Given the description of an element on the screen output the (x, y) to click on. 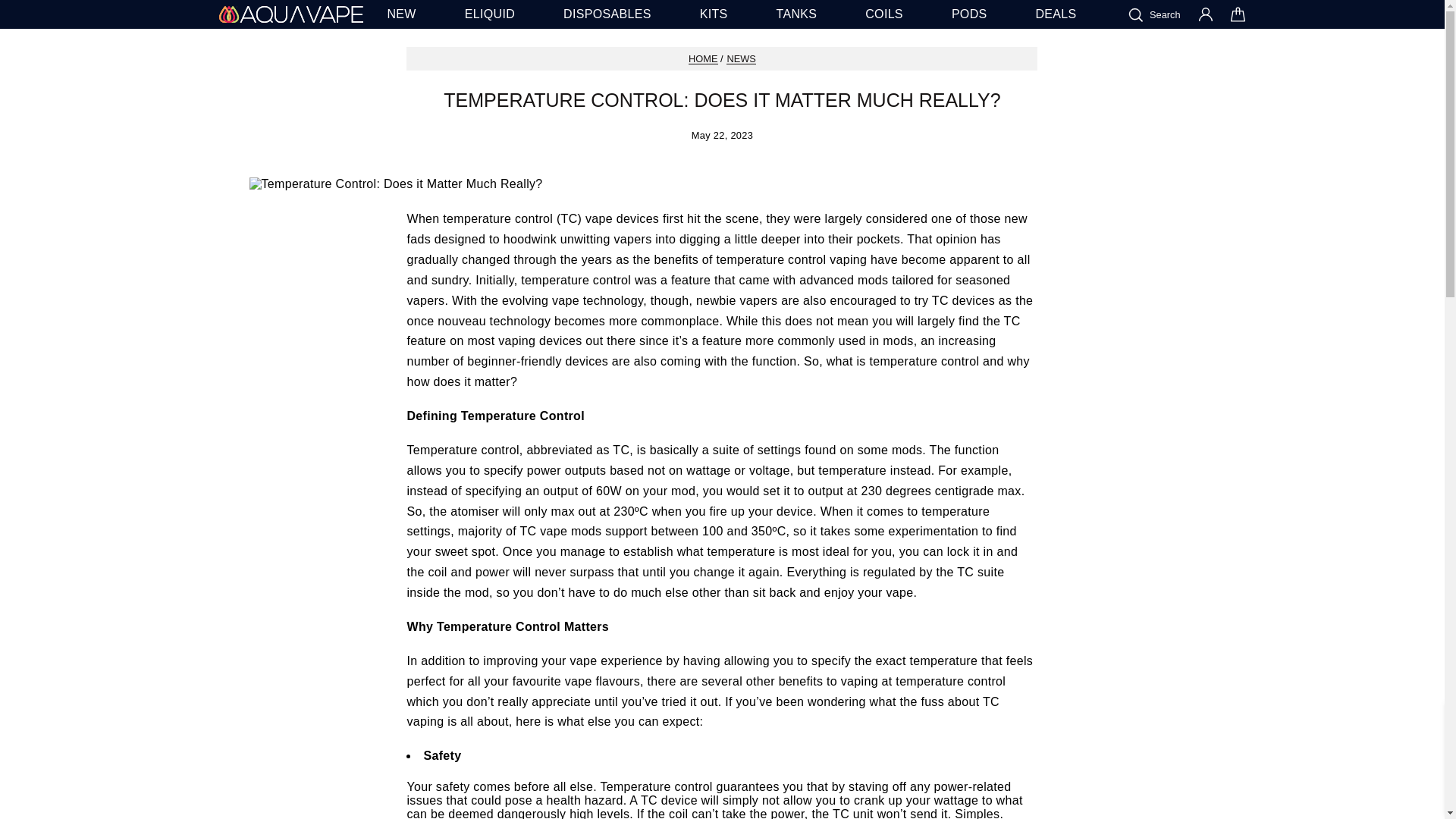
NEW (400, 14)
ELIQUID (489, 14)
